Given the description of an element on the screen output the (x, y) to click on. 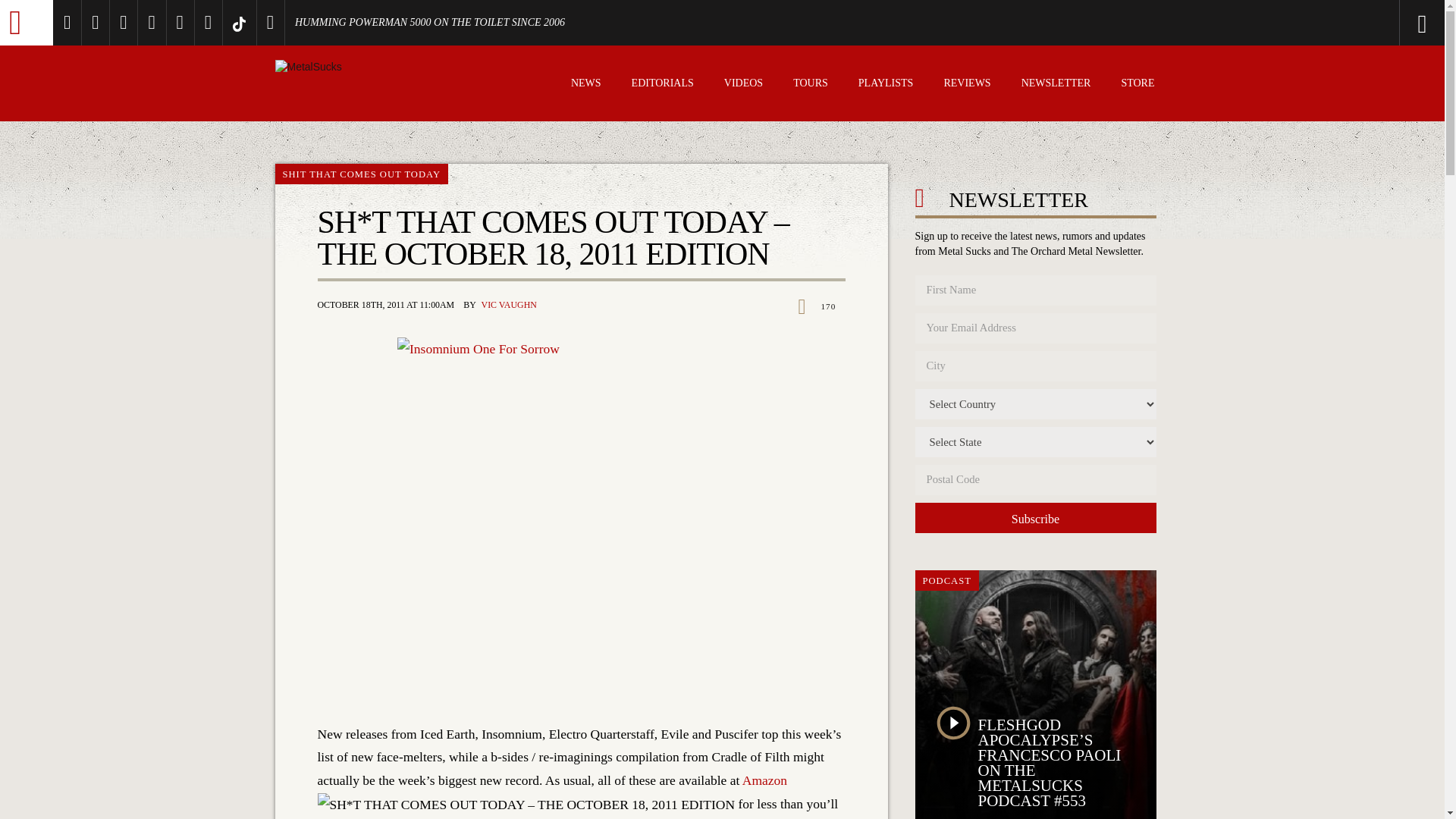
Search (1361, 22)
NEWSLETTER (1056, 84)
STORE (1137, 84)
SHIT THAT COMES OUT TODAY (361, 173)
VIDEOS (742, 84)
Subscribe (1035, 517)
PLAYLISTS (886, 84)
Metal Sucks (26, 22)
NEWS (585, 84)
